Given the description of an element on the screen output the (x, y) to click on. 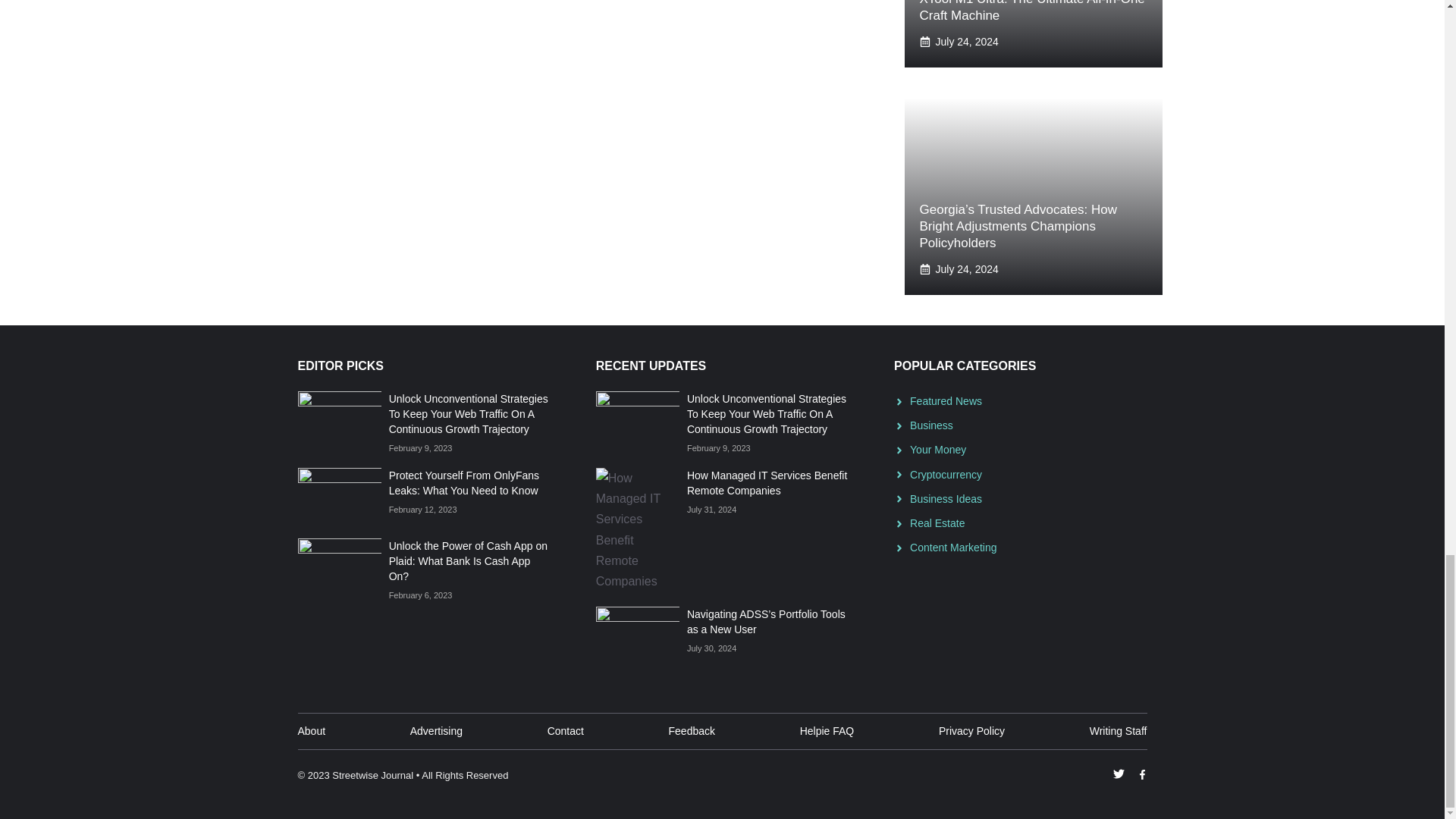
Protect Yourself From OnlyFans Leaks: What You Need to Know (463, 482)
Featured News (945, 400)
How Managed IT Services Benefit Remote Companies (767, 482)
Business (931, 425)
XTool M1 Ultra: The Ultimate All-In-One Craft Machine (1031, 11)
